Given the description of an element on the screen output the (x, y) to click on. 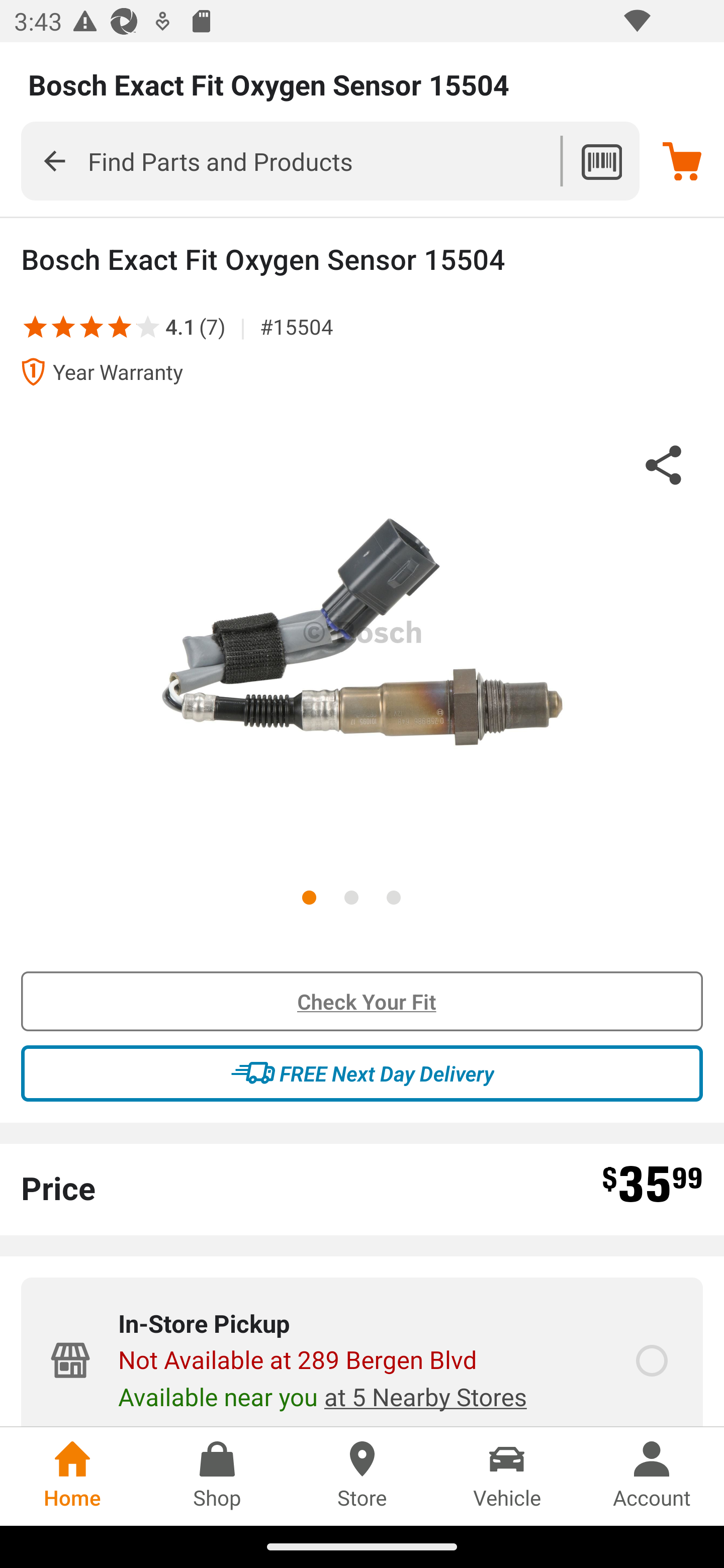
 scan-product-to-search  (601, 161)
 (54, 160)
Cart, no items  (681, 160)
 (34, 326)
 (63, 326)
 (91, 326)
 (119, 326)
 (134, 326)
share button (663, 468)
Check your fit Check Your Fit (361, 1001)
In-Store Pickup (651, 1360)
Home (72, 1475)
Shop (216, 1475)
Store (361, 1475)
Vehicle (506, 1475)
Account (651, 1475)
